Given the description of an element on the screen output the (x, y) to click on. 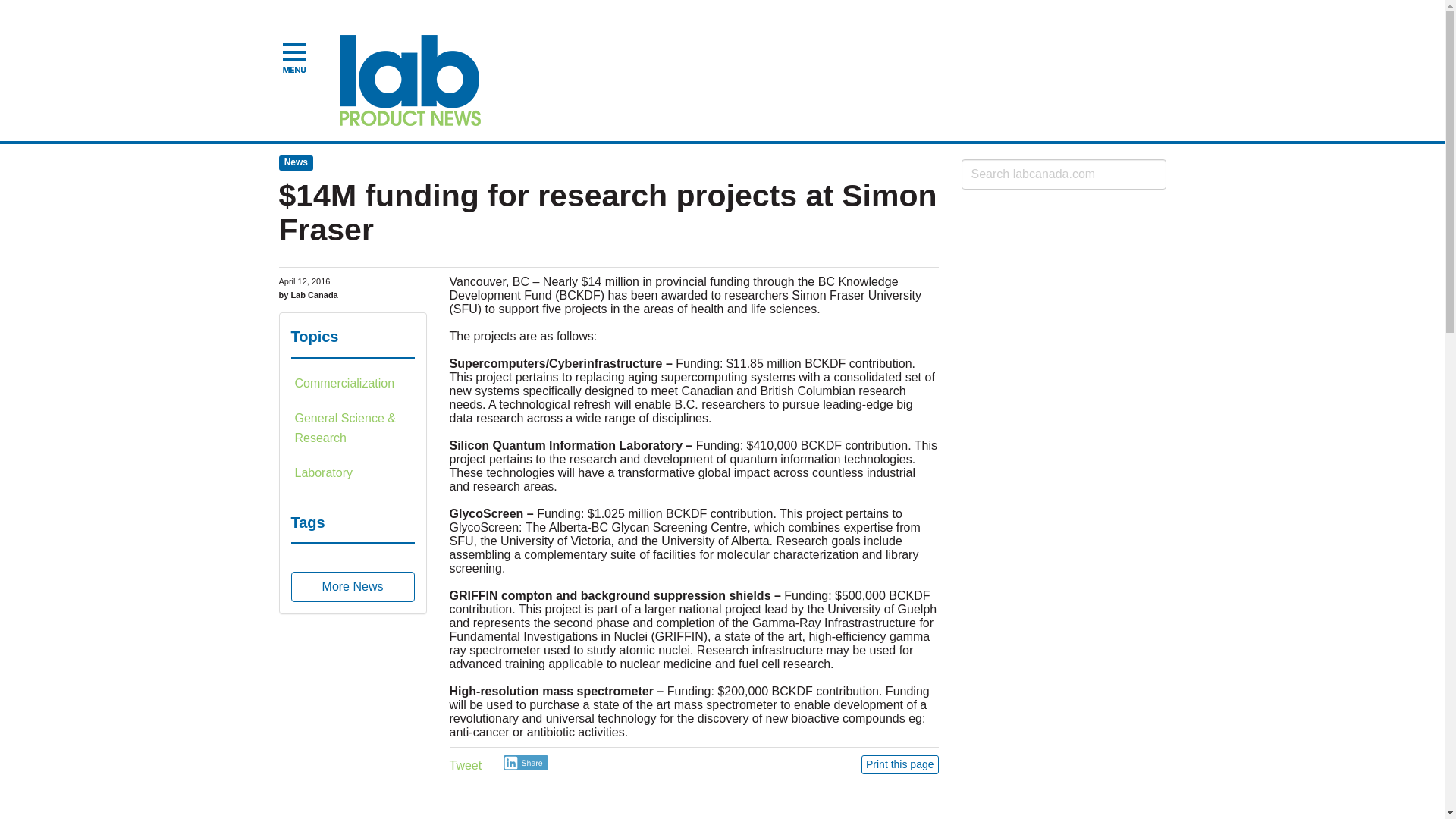
Print this page (900, 764)
Tweet (464, 765)
Commercialization (352, 383)
Lab Canada (409, 80)
Share (525, 762)
More News (352, 586)
News (296, 162)
Laboratory (352, 472)
Click to show site navigation (293, 59)
